Given the description of an element on the screen output the (x, y) to click on. 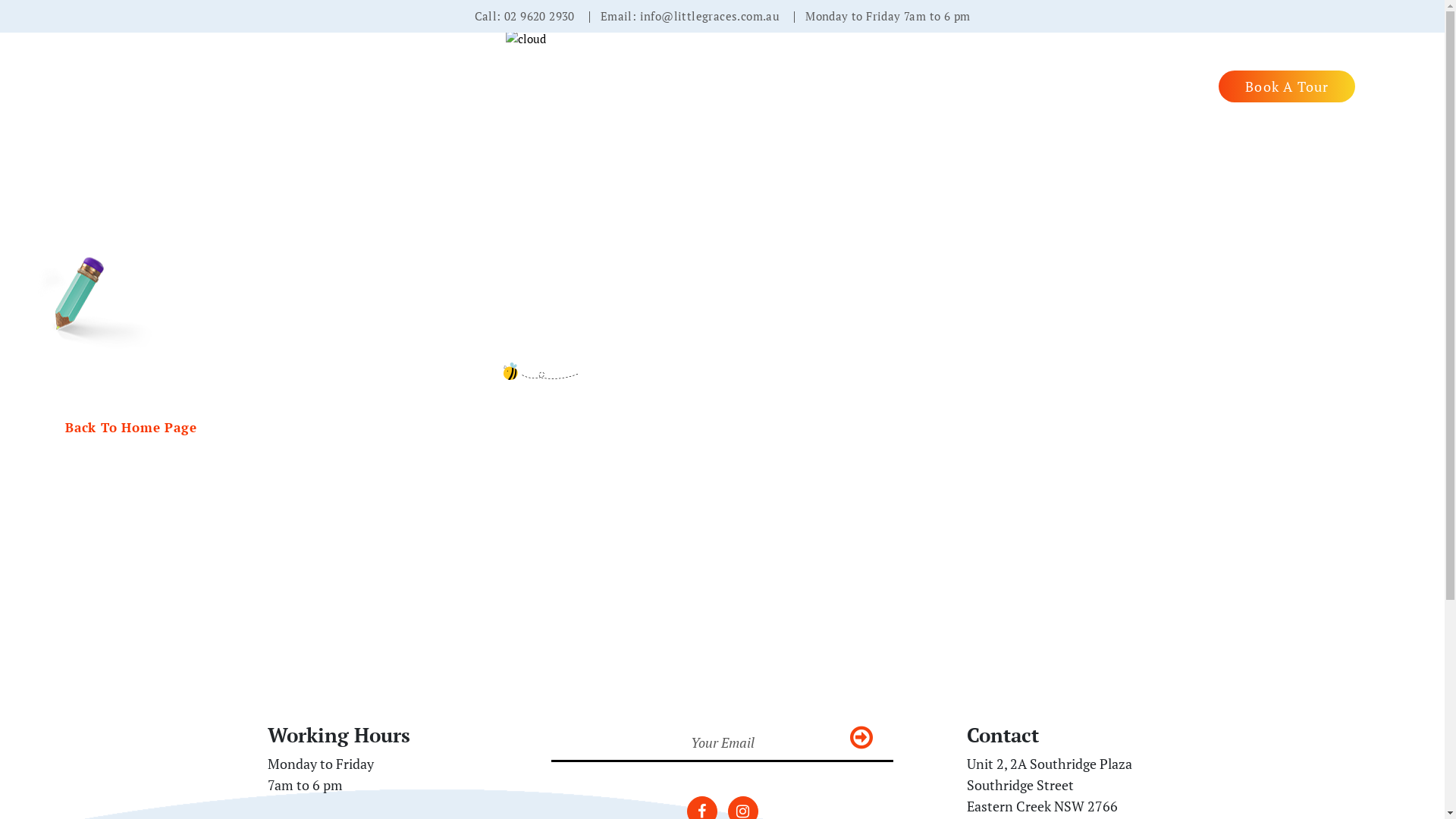
Book A Tour Element type: text (1286, 86)
Philosophy Element type: text (969, 86)
About Us Element type: text (769, 86)
Back To Home Page Element type: text (130, 427)
Call: 02 9620 2930 Element type: text (524, 15)
Rooms Element type: text (891, 86)
Resources Element type: text (1056, 86)
Care Element type: text (833, 86)
Blog Element type: text (1122, 86)
Email: info@littlegraces.com.au Element type: text (689, 15)
Contact Element type: text (1182, 86)
